Given the description of an element on the screen output the (x, y) to click on. 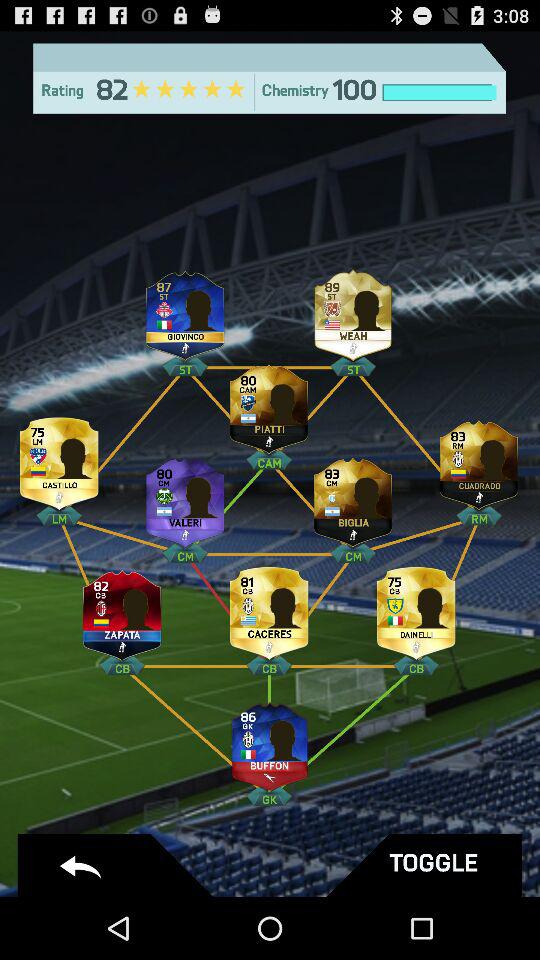
select player card (185, 310)
